Given the description of an element on the screen output the (x, y) to click on. 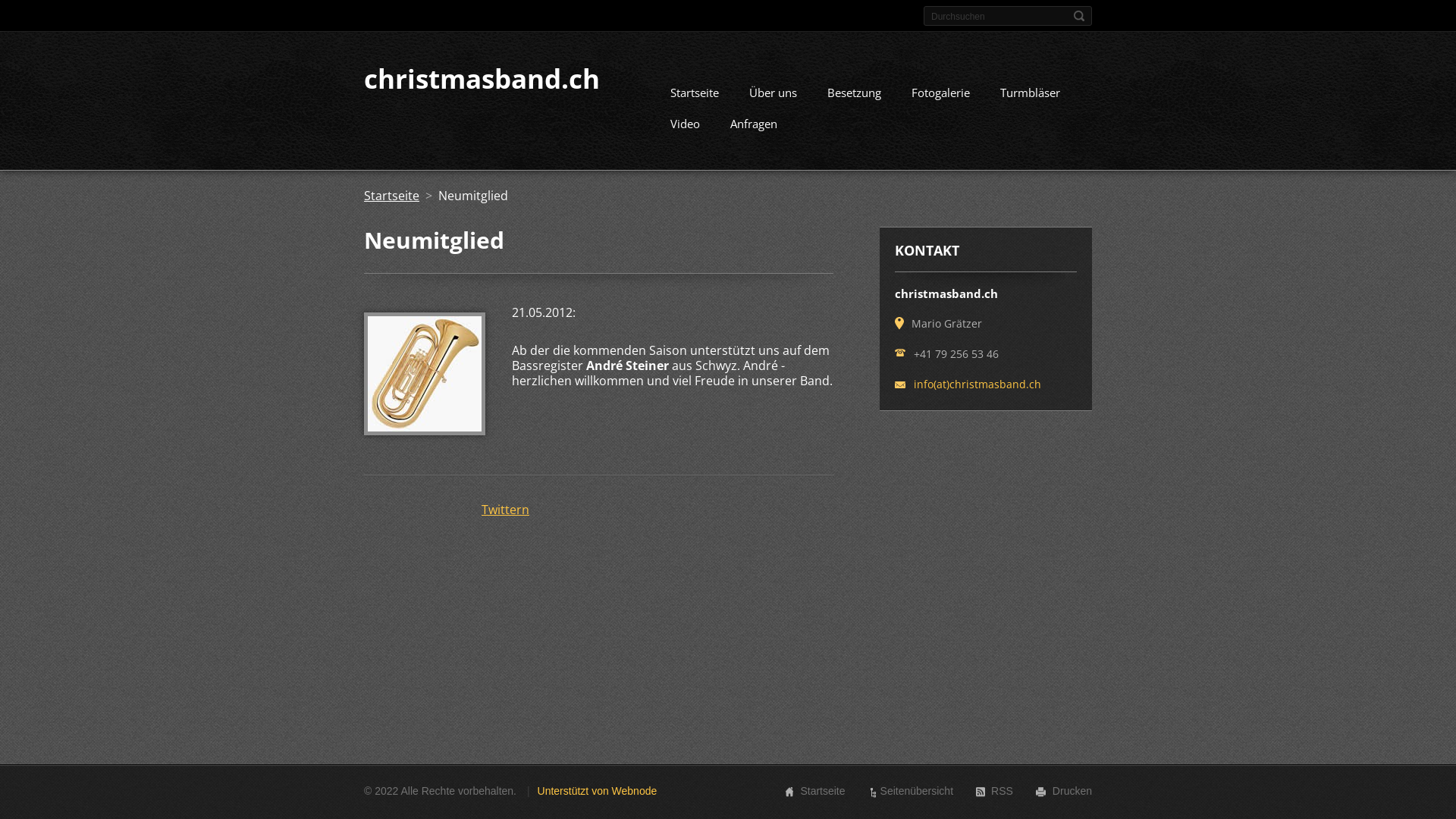
Startseite Element type: text (694, 94)
Fotogalerie Element type: text (940, 94)
Drucken Element type: text (1072, 790)
Die Seite wird in einem neuen Fenster angezeigt. Element type: hover (424, 430)
Twittern Element type: text (505, 509)
info(at)christmasband.ch Element type: text (977, 383)
christmasband.ch Element type: text (481, 78)
Suchen Element type: text (1078, 15)
Startseite Element type: text (391, 195)
Startseite Element type: text (822, 790)
Video Element type: text (685, 125)
Besetzung Element type: text (854, 94)
Anfragen Element type: text (753, 125)
RSS Element type: text (1002, 790)
